Given the description of an element on the screen output the (x, y) to click on. 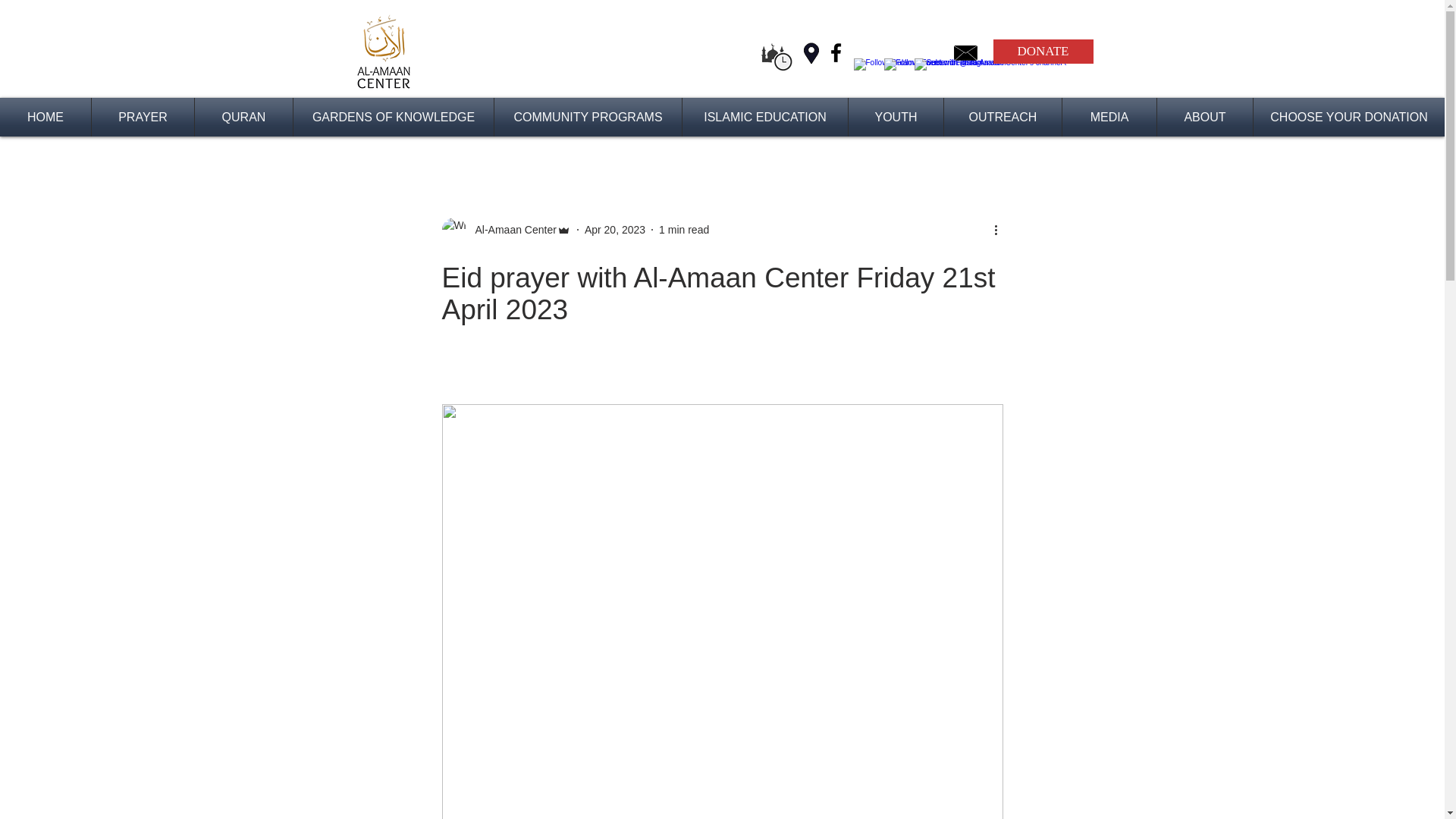
HOME (45, 116)
CHOOSE YOUR DONATION (1349, 116)
GARDENS OF KNOWLEDGE (393, 116)
Al-Amaan Center (510, 229)
1 min read (684, 228)
DONATE (1042, 51)
ABOUT (1204, 116)
Apr 20, 2023 (615, 228)
prayer times at alamaan.org -  of Eden P (777, 54)
